Given the description of an element on the screen output the (x, y) to click on. 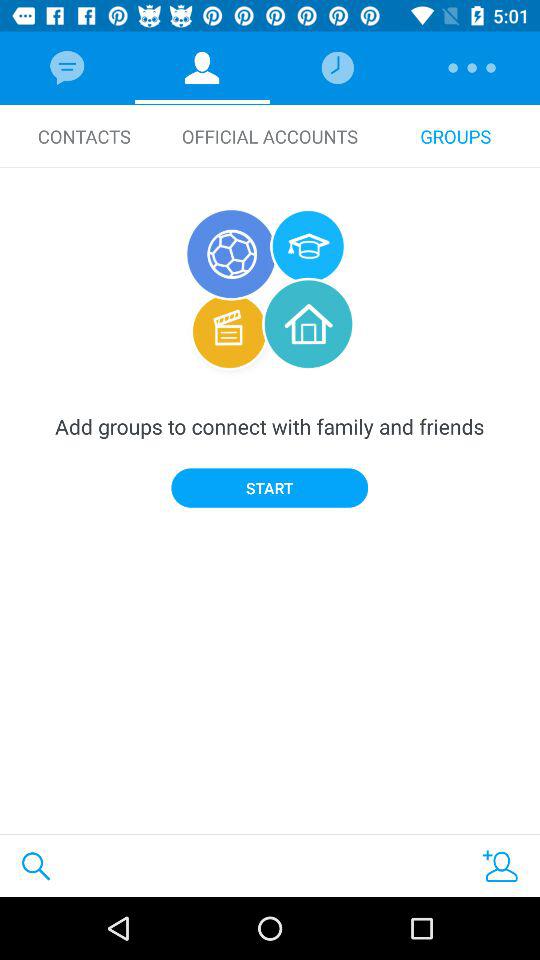
press the item next to the groups (269, 136)
